Given the description of an element on the screen output the (x, y) to click on. 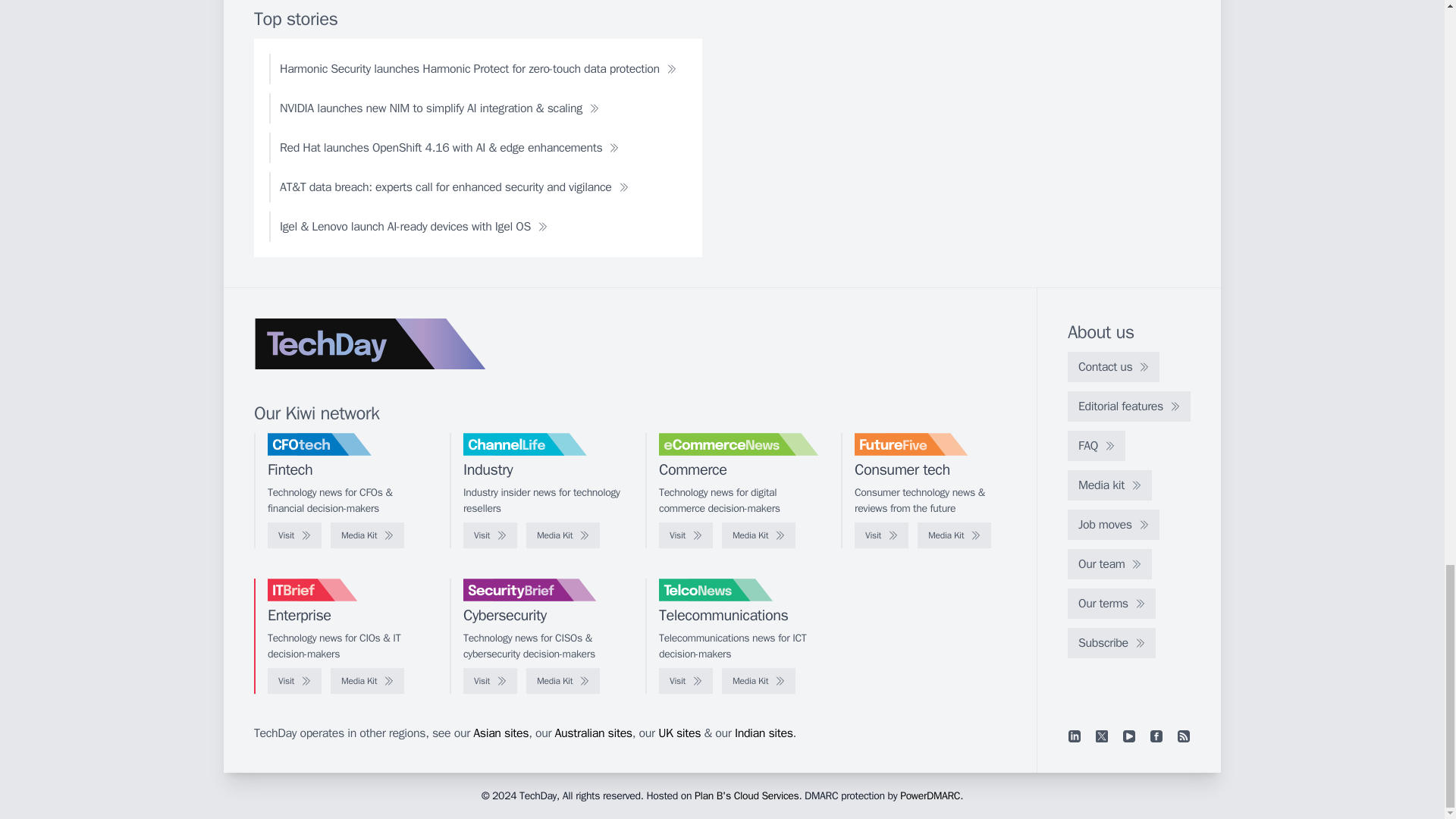
Visit (294, 534)
Visit (686, 534)
Media Kit (367, 534)
Visit (881, 534)
Media Kit (954, 534)
Media Kit (758, 534)
Visit (489, 534)
Media Kit (562, 534)
